Given the description of an element on the screen output the (x, y) to click on. 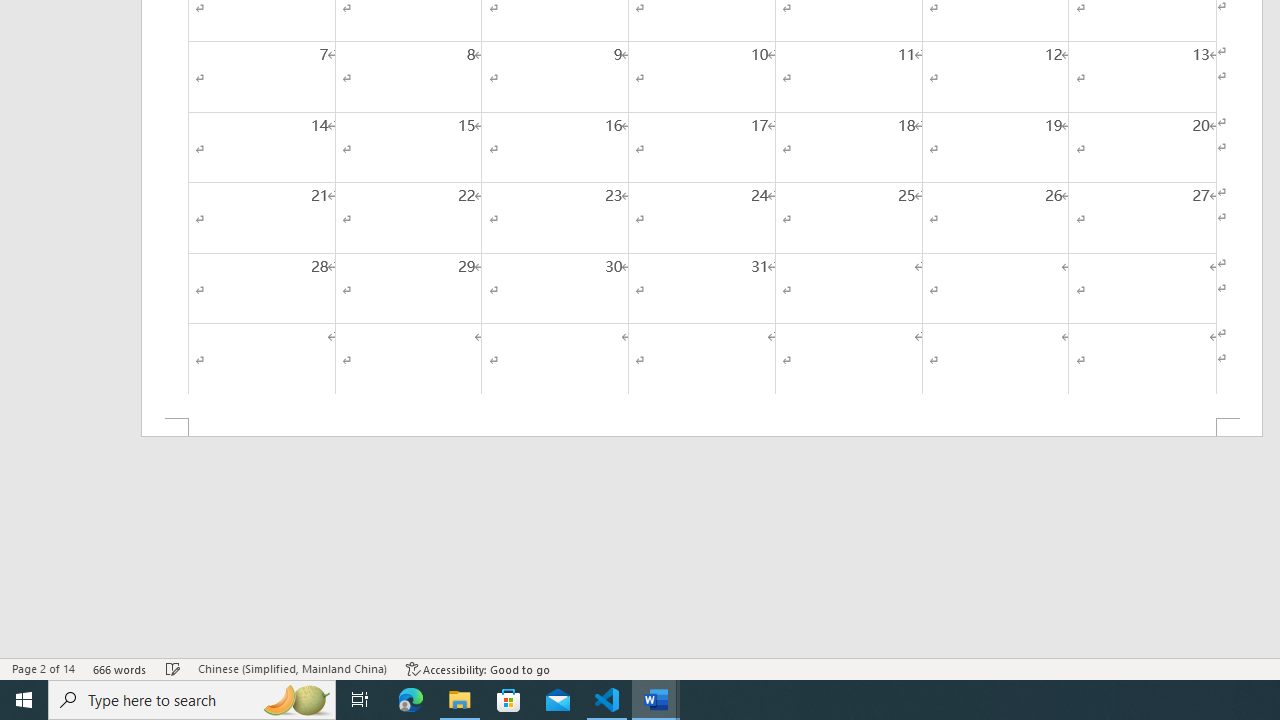
Accessibility Checker Accessibility: Good to go (478, 668)
Spelling and Grammar Check Checking (173, 668)
Word Count 666 words (119, 668)
Footer -Section 1- (701, 427)
Page Number Page 2 of 14 (43, 668)
Language Chinese (Simplified, Mainland China) (292, 668)
